Given the description of an element on the screen output the (x, y) to click on. 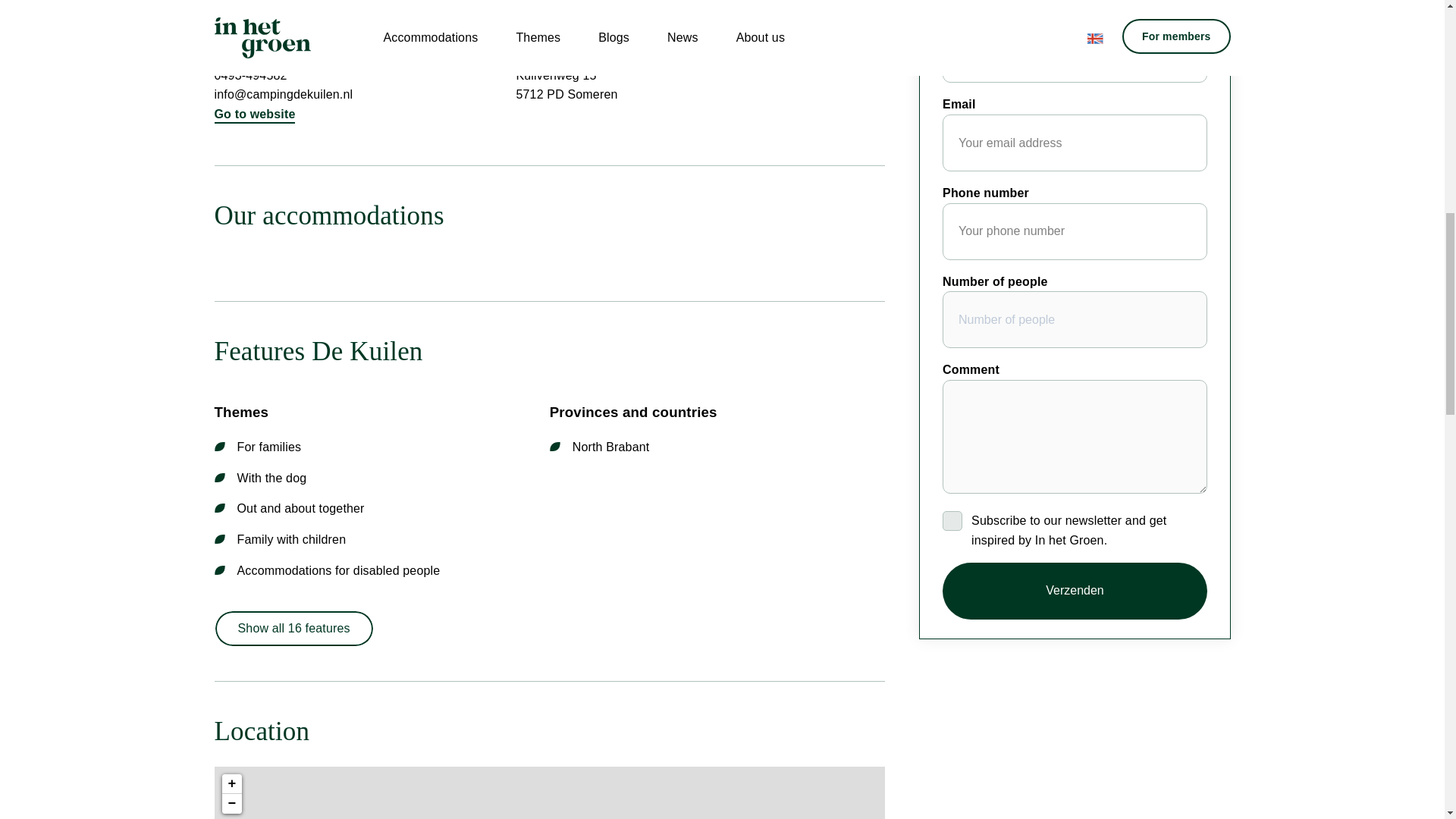
Show all 16 features (293, 628)
0493-494582 (250, 74)
Verzenden (1074, 590)
Ja (952, 520)
Zoom in (231, 783)
Go to website (254, 113)
Zoom out (231, 803)
